Given the description of an element on the screen output the (x, y) to click on. 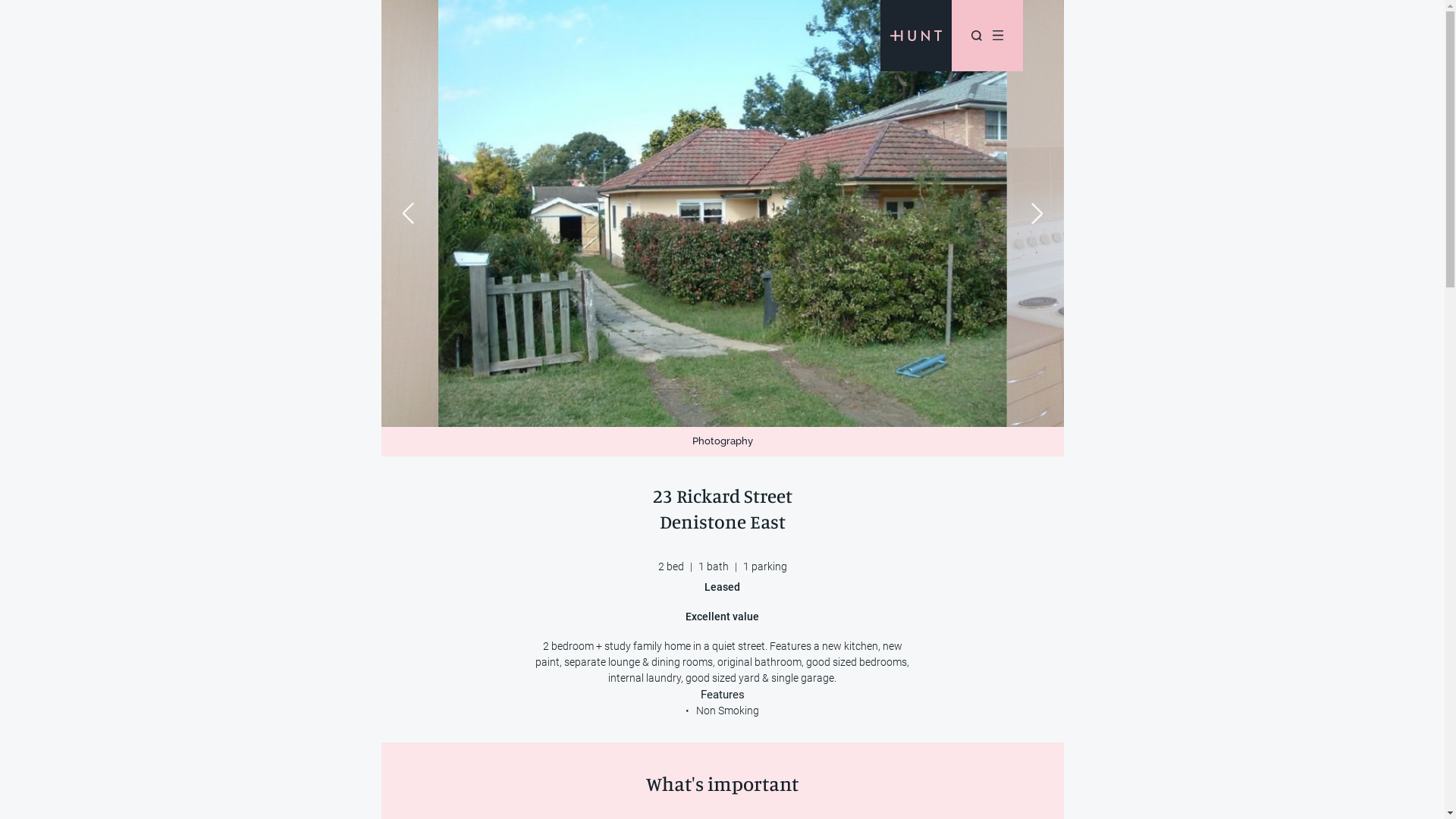
Photography Element type: text (721, 440)
Search Element type: hover (975, 35)
Hunt Real Estate -  Element type: hover (915, 35)
Open main menu Element type: hover (996, 35)
